Given the description of an element on the screen output the (x, y) to click on. 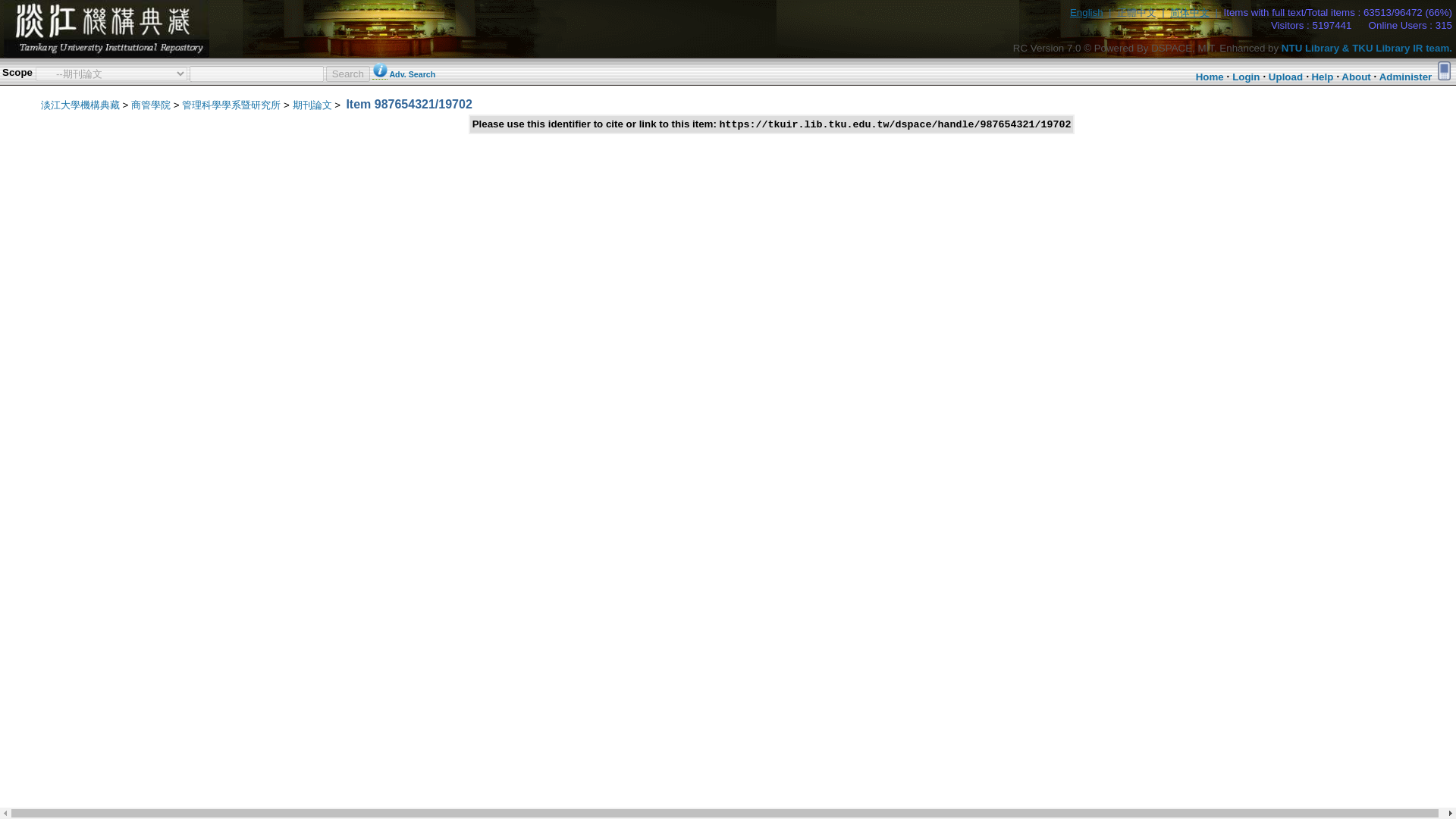
Administer (1405, 76)
Login (1245, 76)
English (1087, 12)
Home (1209, 76)
Upload (1285, 76)
Search (347, 73)
About (1355, 76)
Adv. Search (411, 73)
Search (347, 73)
Goto mobile version (1443, 69)
